Given the description of an element on the screen output the (x, y) to click on. 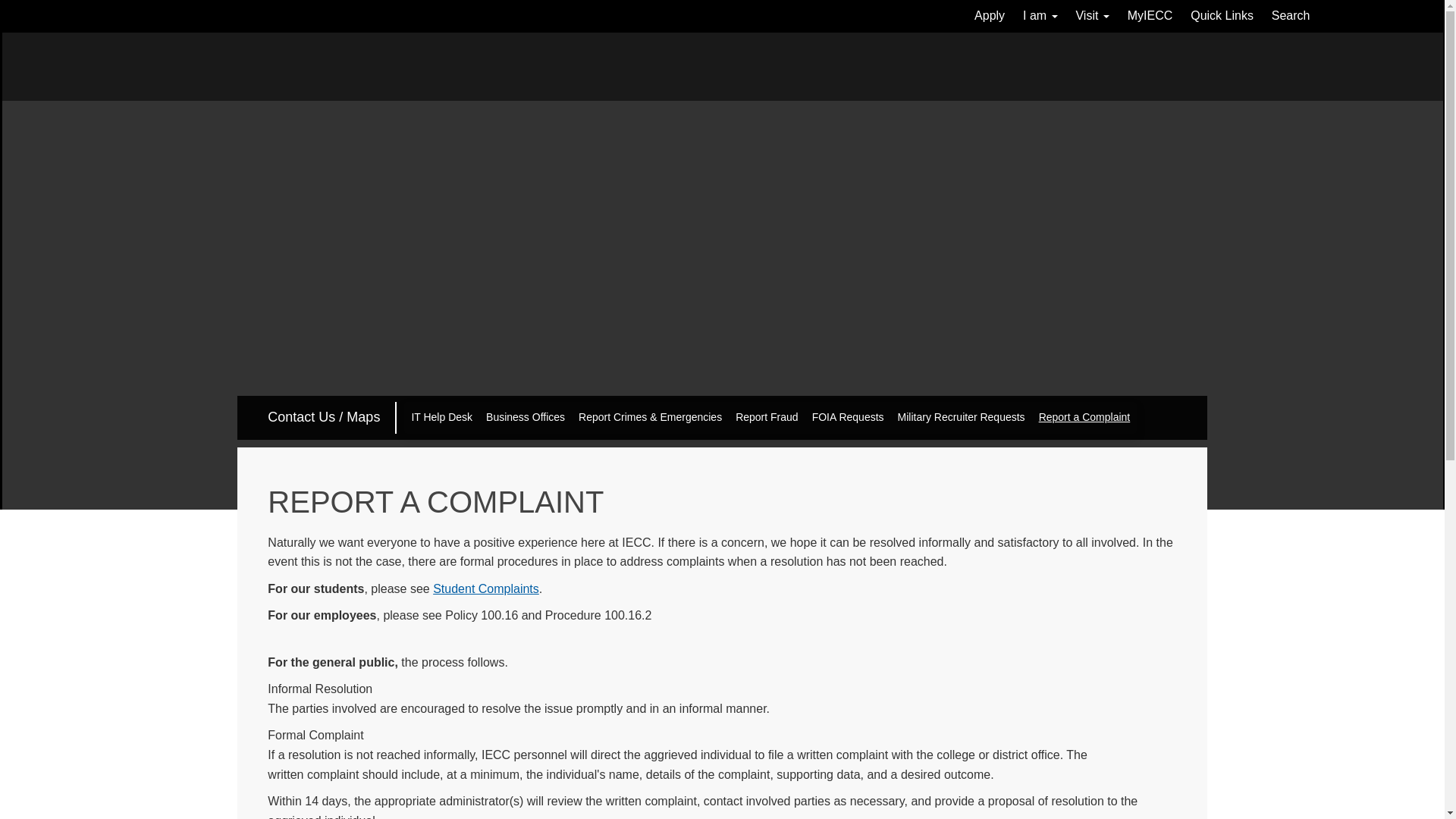
Visit (1091, 16)
Search (1290, 16)
Apply (988, 16)
I am (1039, 16)
MyIECC (1149, 16)
Quick Links (1221, 16)
